Given the description of an element on the screen output the (x, y) to click on. 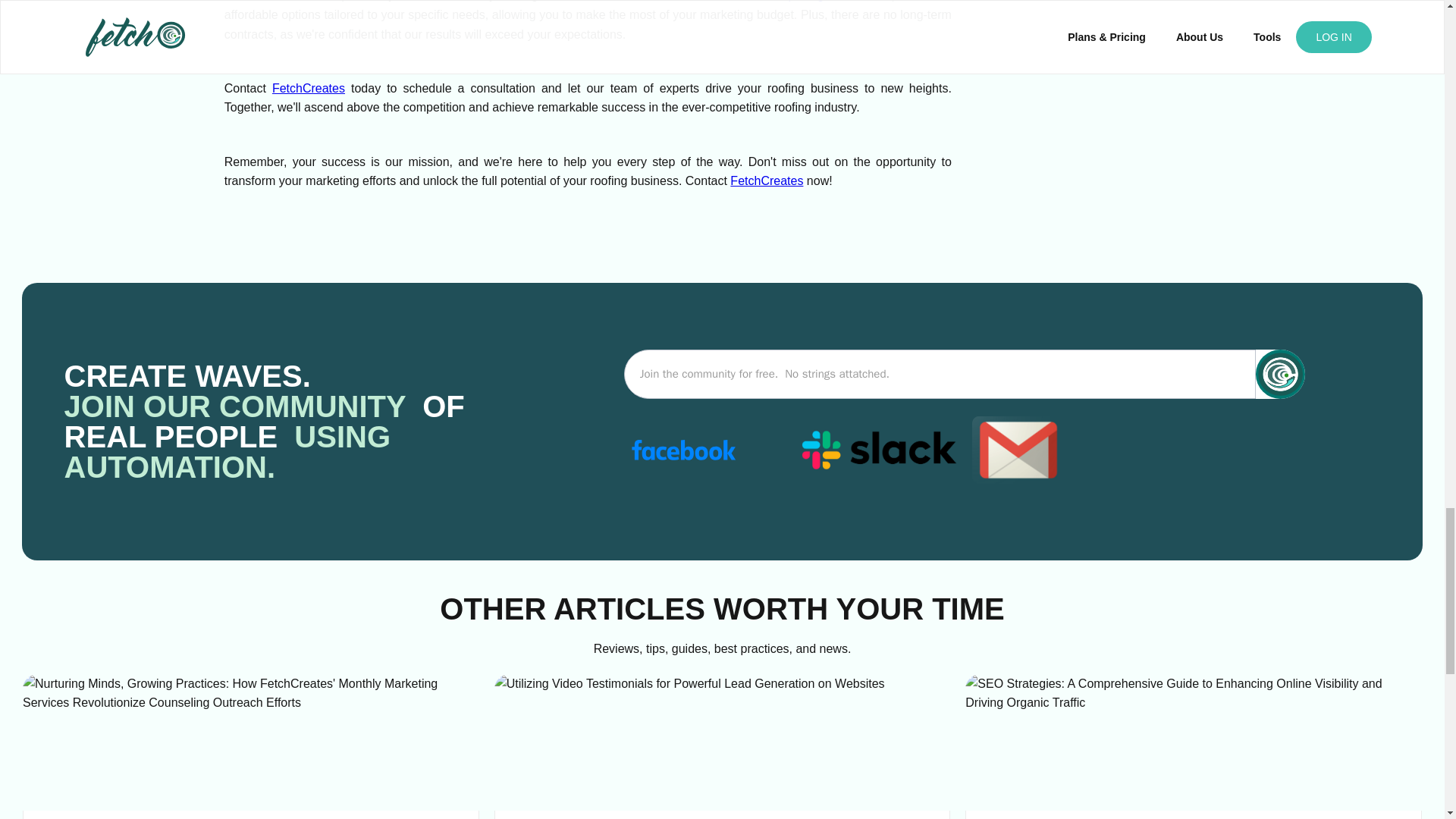
FetchCreates (308, 88)
flat-rate pricing (782, 0)
FetchCreates (766, 180)
